Given the description of an element on the screen output the (x, y) to click on. 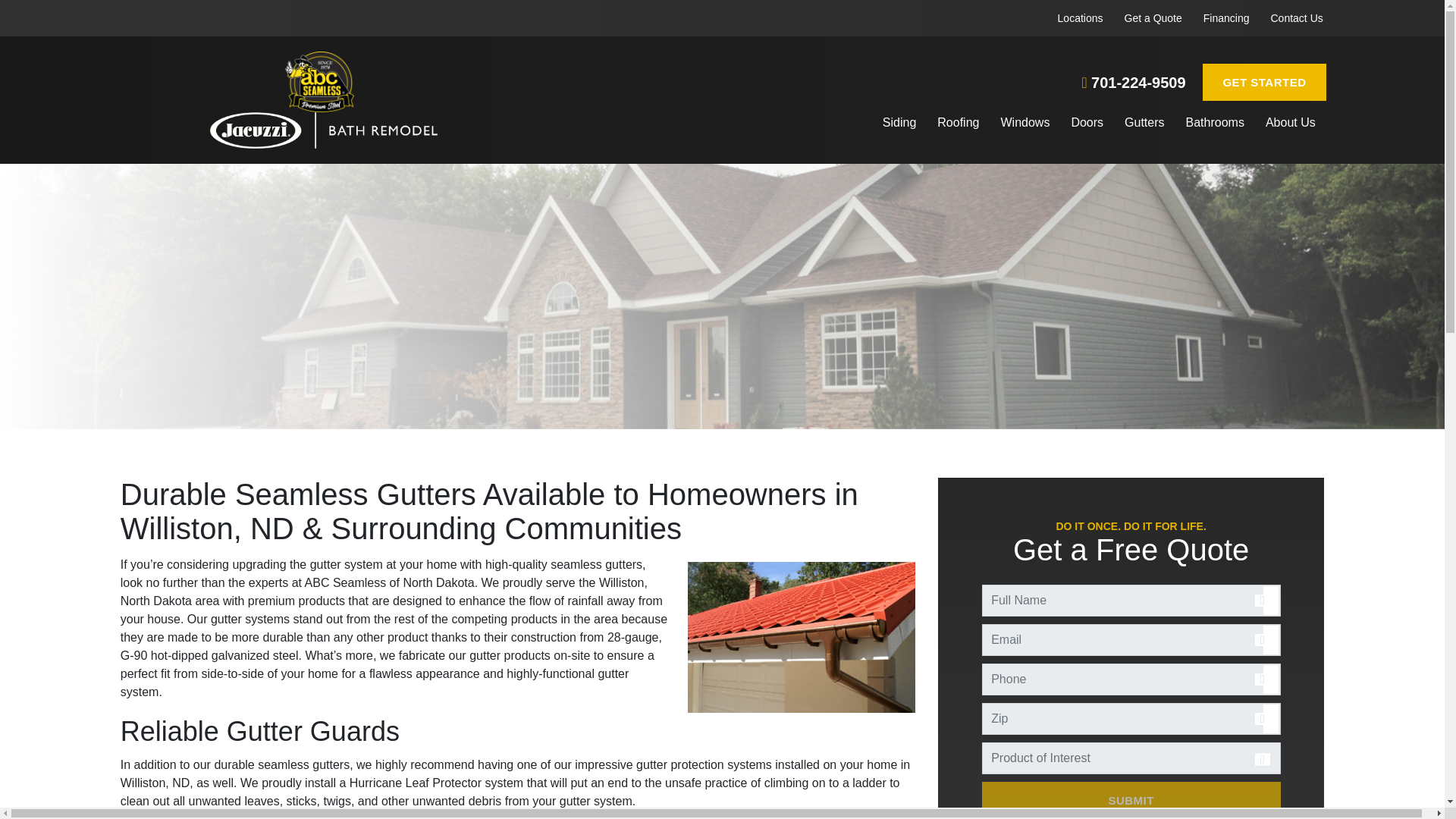
Gutters Williston ND (517, 628)
ABC Seamless of North Dakota (319, 81)
ABC Seamless of North Dakota (323, 130)
Submit (1131, 800)
